Given the description of an element on the screen output the (x, y) to click on. 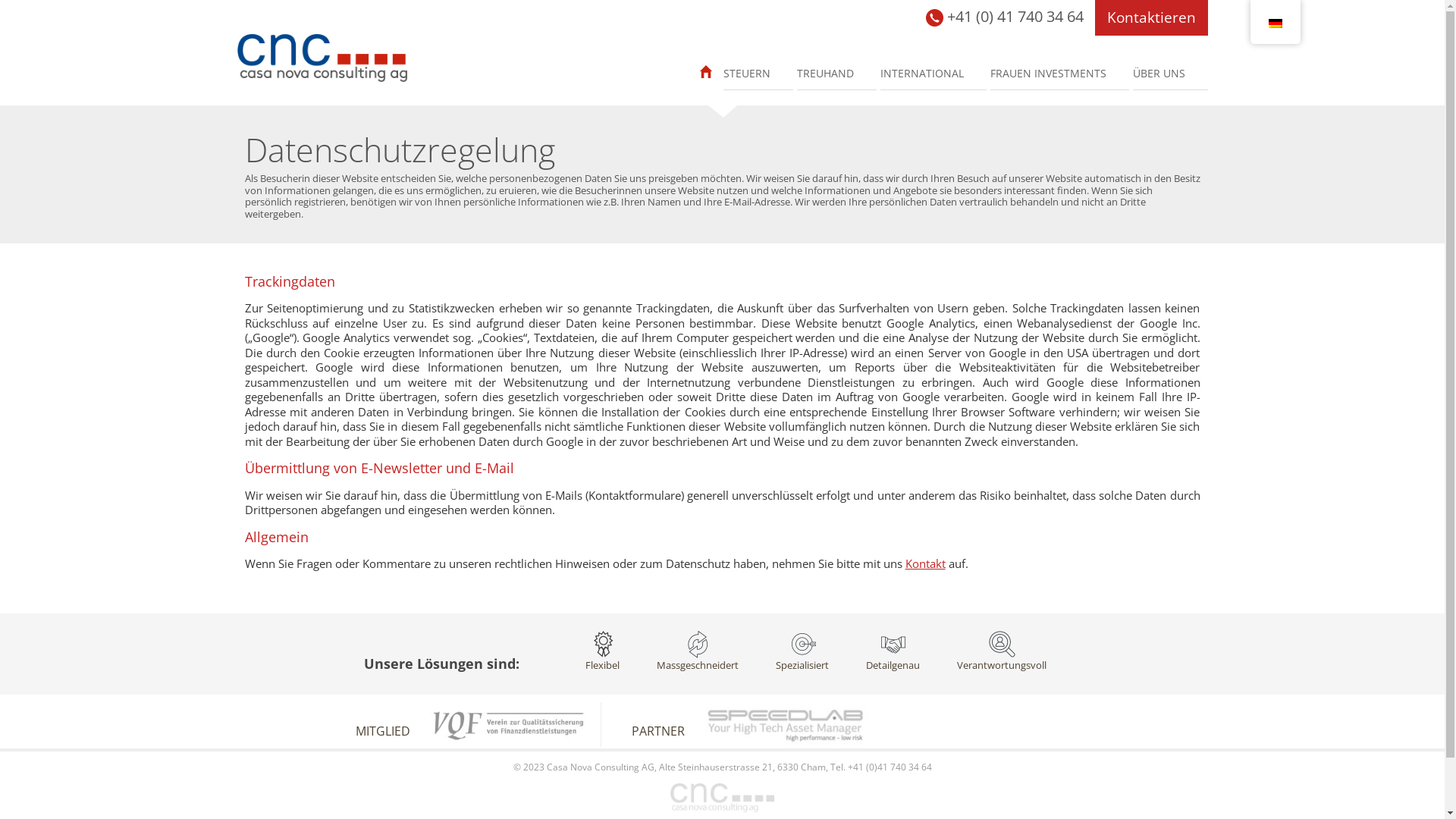
TREUHAND Element type: text (835, 73)
STEUERN Element type: text (758, 73)
CNC Element type: hover (321, 57)
FRAUEN INVESTMENTS Element type: text (1059, 73)
Deutsch Element type: hover (1274, 23)
Kontaktieren Element type: text (1151, 17)
Kontakt Element type: text (925, 563)
INTERNATIONAL Element type: text (932, 73)
+41 (0) 41 740 34 64 Element type: text (1003, 17)
